Given the description of an element on the screen output the (x, y) to click on. 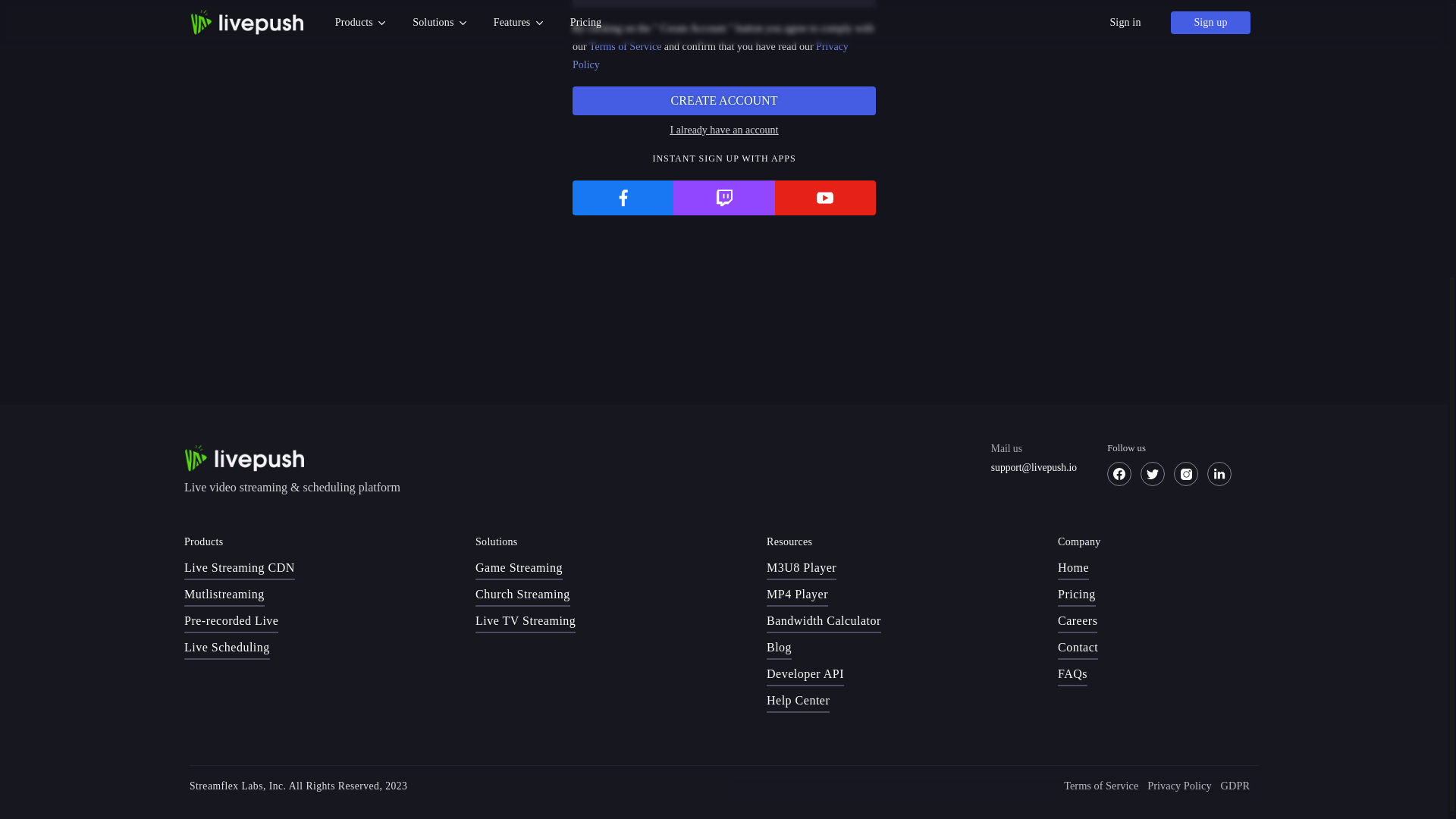
Privacy Policy (710, 55)
CREATE ACCOUNT (724, 100)
Live Streaming CDN (239, 568)
follow us on Twitter (1152, 473)
follow our LinkedIn company page (1219, 473)
Terms of Service (625, 46)
follow us on Instagram (1185, 473)
Mutlistreaming (224, 594)
follow us on Facebook (1118, 473)
I already have an account (723, 129)
